Given the description of an element on the screen output the (x, y) to click on. 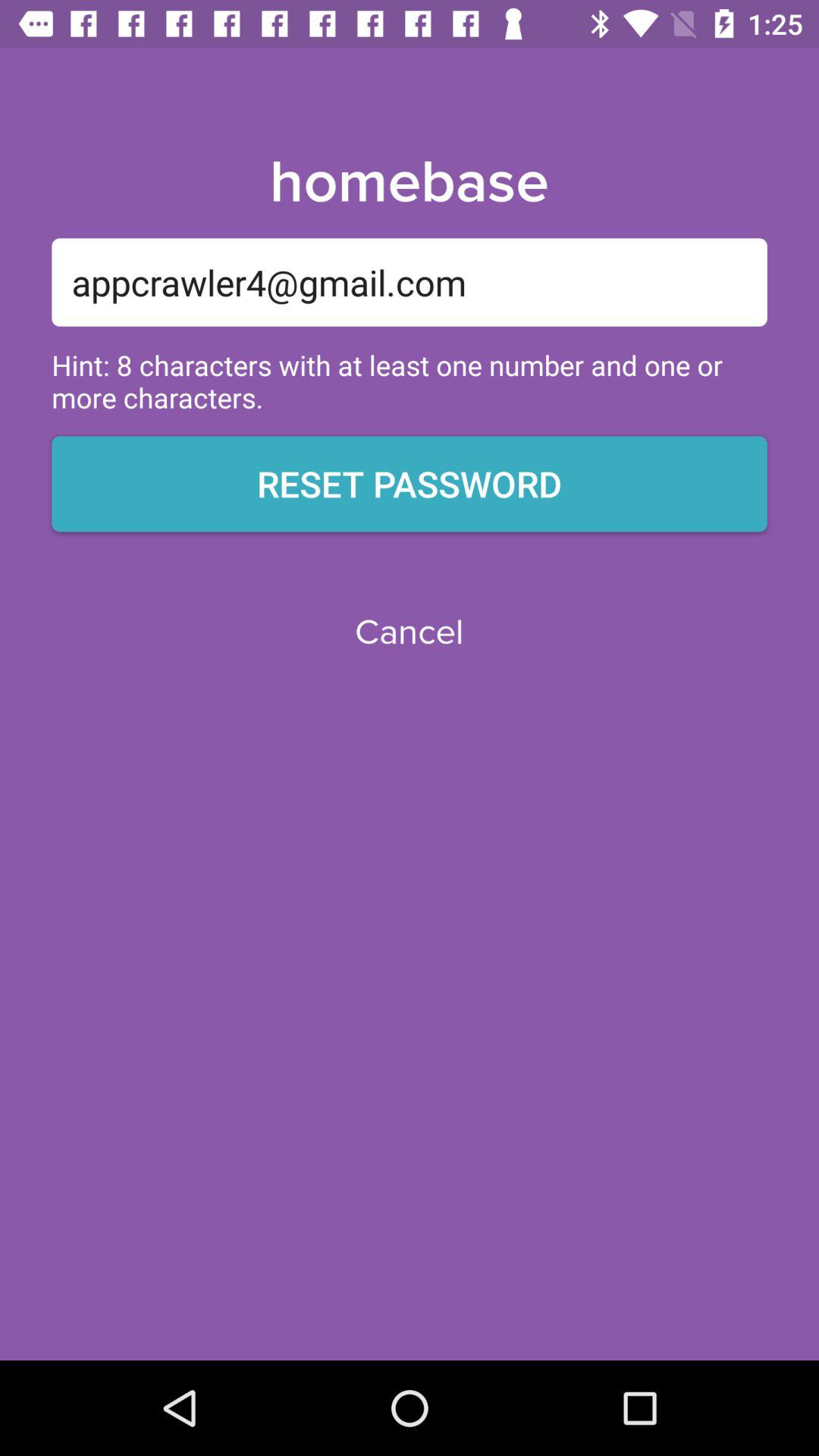
click item at the center (408, 632)
